Given the description of an element on the screen output the (x, y) to click on. 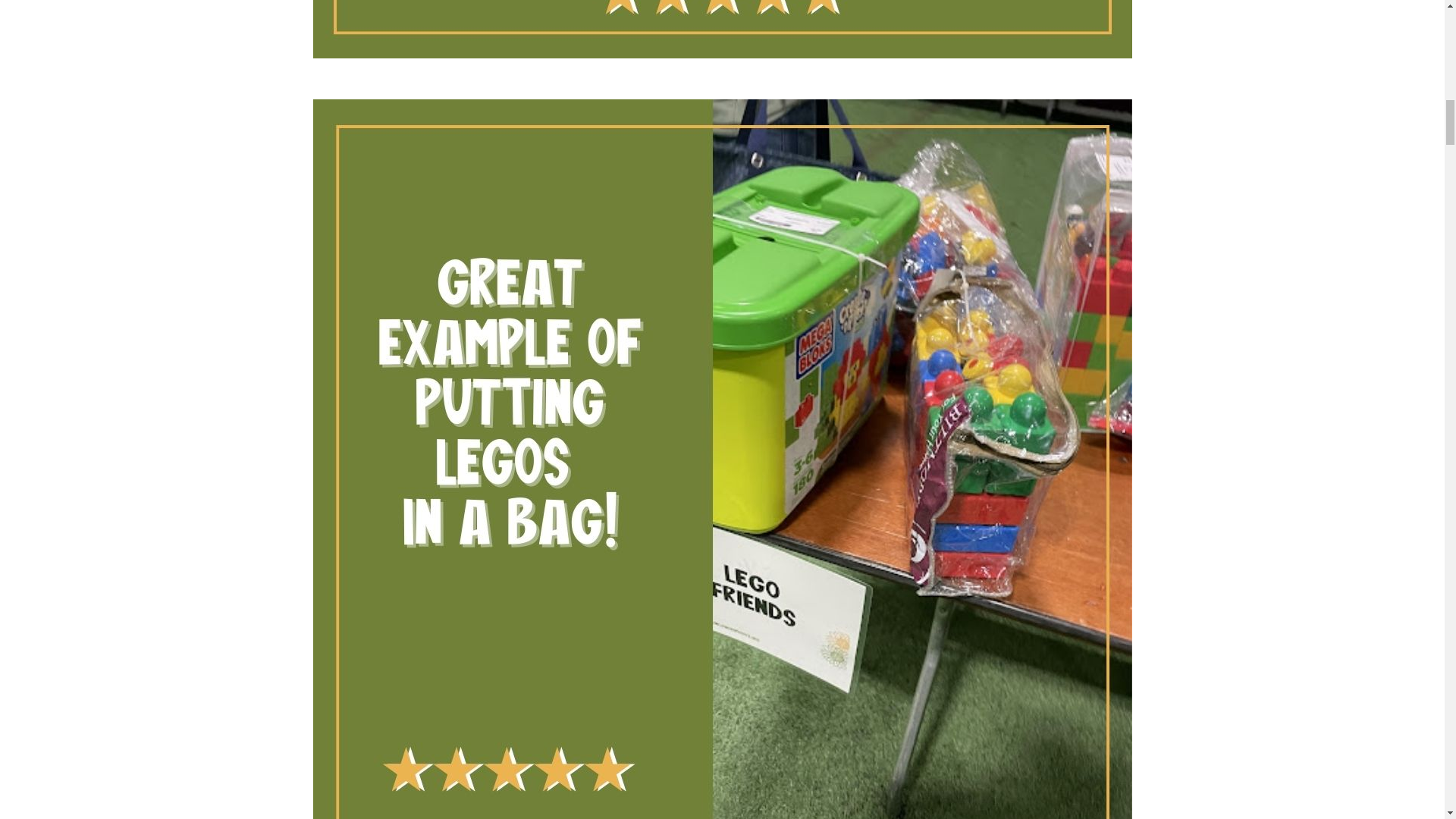
do secure (722, 29)
